Given the description of an element on the screen output the (x, y) to click on. 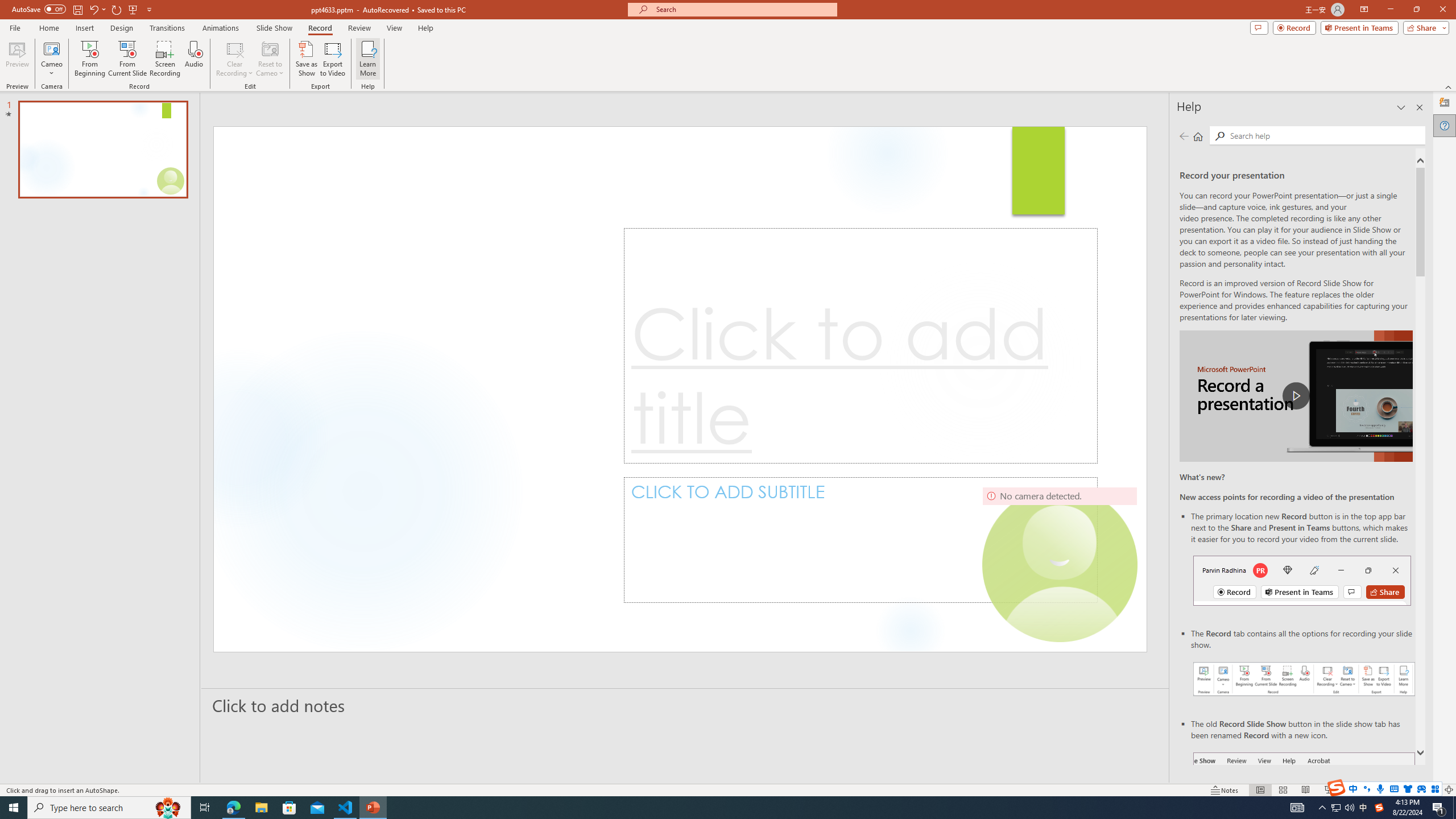
Search (1219, 136)
Record button in top bar (1301, 580)
Design (122, 28)
Close pane (1419, 107)
Animations (220, 28)
Comments (1259, 27)
From Beginning (133, 9)
Preview (17, 58)
play Record a Presentation (1296, 395)
Clear Recording (234, 58)
Audio (193, 58)
Zoom 129% (1430, 790)
